Given the description of an element on the screen output the (x, y) to click on. 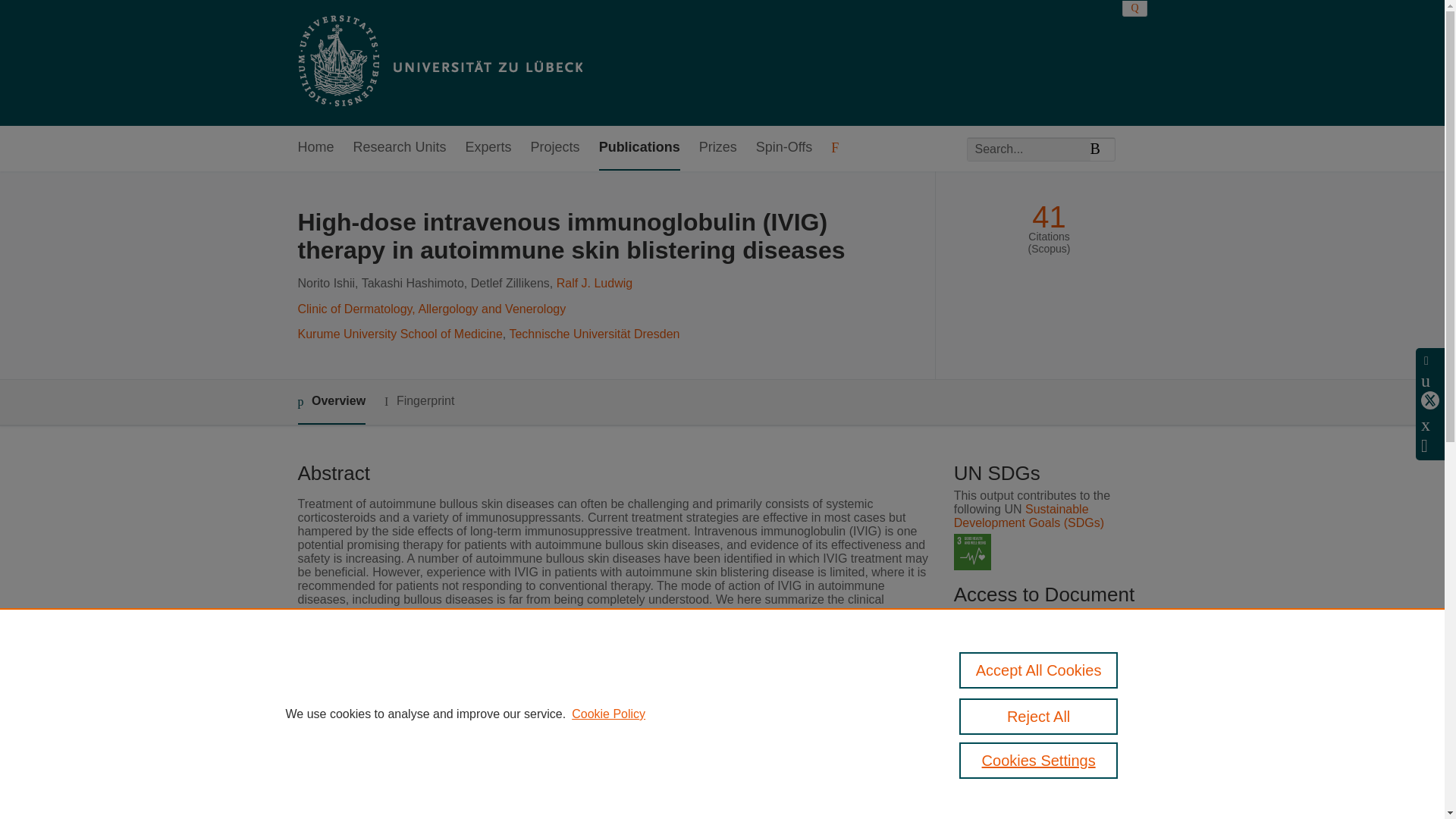
Projects (555, 148)
SDG 3 - Good Health and Well-being (972, 551)
University of Luebeck Home (438, 62)
41 (1048, 216)
Link to publication in Scopus (1045, 676)
Ralf J. Ludwig (594, 282)
Clinical Reviews in Allergy and Immunology (623, 723)
Fingerprint (419, 401)
Overview (331, 402)
Kurume University School of Medicine (399, 333)
Research Units (399, 148)
Clinic of Dermatology, Allergology and Venerology (431, 308)
Publications (638, 148)
Experts (488, 148)
